Given the description of an element on the screen output the (x, y) to click on. 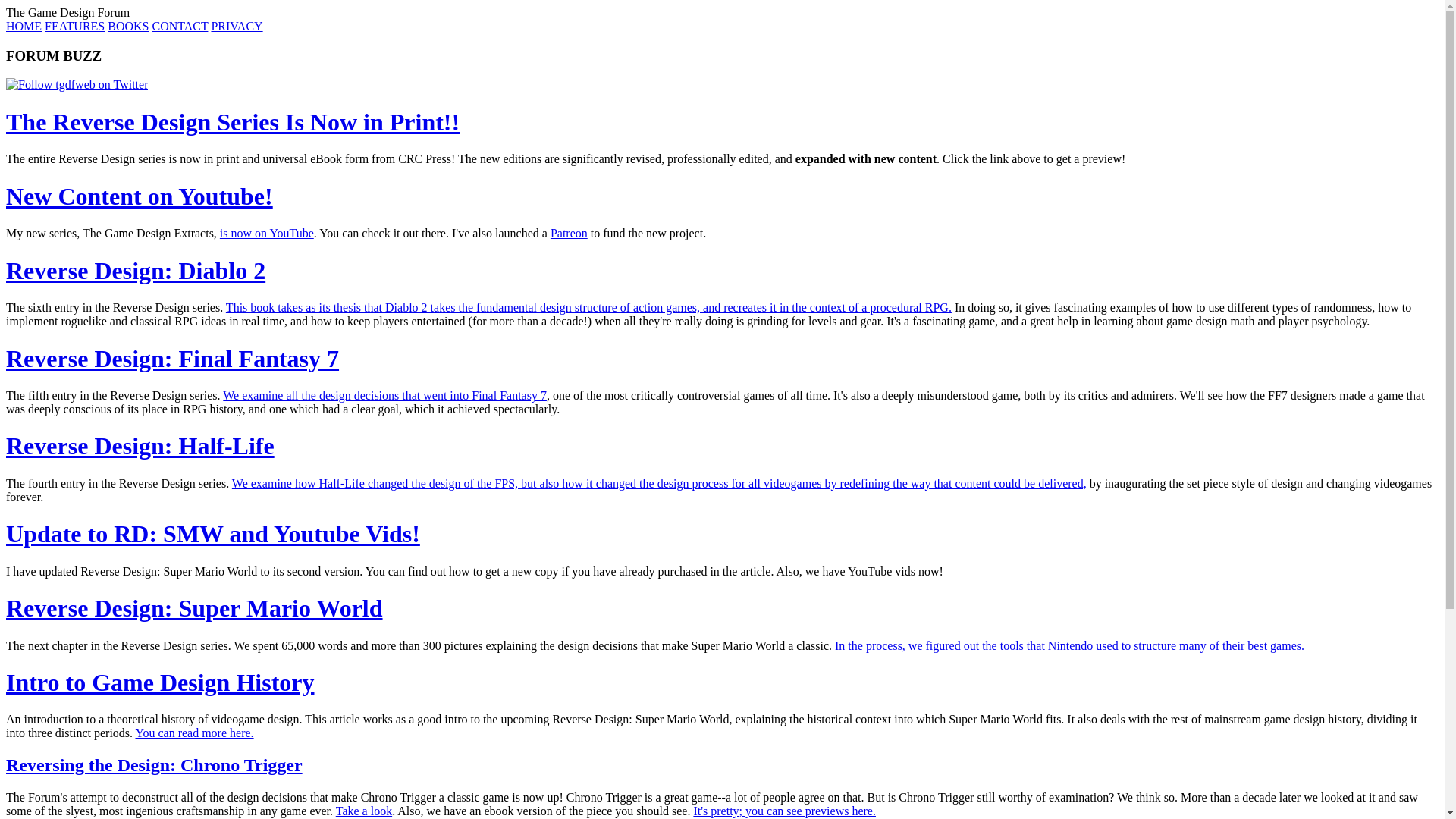
FEATURES (74, 25)
PRIVACY (236, 25)
New Content on Youtube! (139, 195)
Intro to Game Design History (159, 682)
is now on YouTube (266, 232)
Reverse Design: Half-Life (140, 445)
Patreon (569, 232)
It's pretty; you can see previews here. (784, 810)
The Reverse Design Series Is Now in Print!! (232, 121)
